Given the description of an element on the screen output the (x, y) to click on. 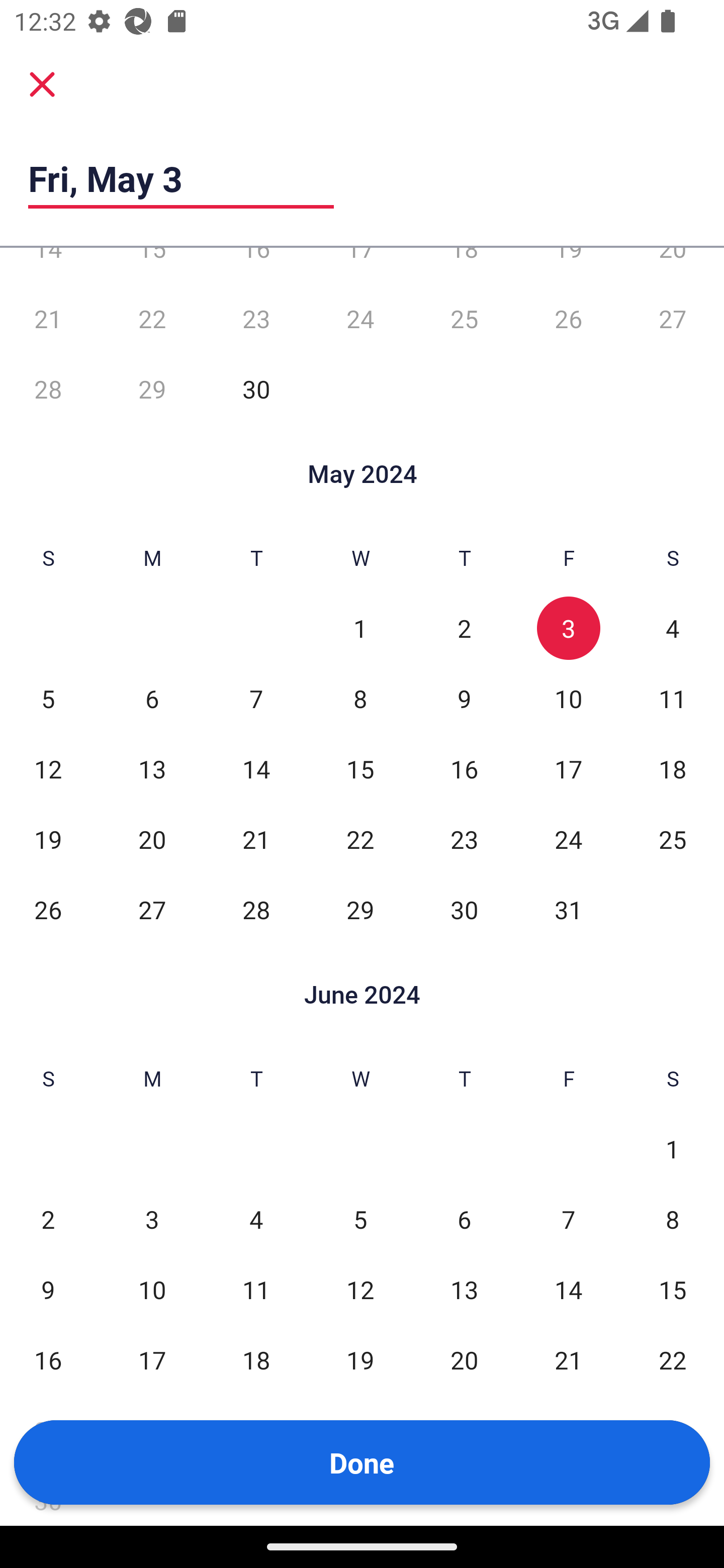
Cancel (42, 84)
Fri, May 3 (180, 178)
21 Sun, Apr 21, Not Selected (48, 318)
22 Mon, Apr 22, Not Selected (152, 318)
23 Tue, Apr 23, Not Selected (256, 318)
24 Wed, Apr 24, Not Selected (360, 318)
25 Thu, Apr 25, Not Selected (464, 318)
26 Fri, Apr 26, Not Selected (568, 318)
27 Sat, Apr 27, Not Selected (672, 318)
28 Sun, Apr 28, Not Selected (48, 389)
29 Mon, Apr 29, Not Selected (152, 389)
30 Tue, Apr 30, Not Selected (256, 389)
1 Wed, May 1, Not Selected (360, 627)
2 Thu, May 2, Not Selected (464, 627)
3 Fri, May 3, Selected (568, 627)
4 Sat, May 4, Not Selected (672, 627)
5 Sun, May 5, Not Selected (48, 698)
6 Mon, May 6, Not Selected (152, 698)
7 Tue, May 7, Not Selected (256, 698)
8 Wed, May 8, Not Selected (360, 698)
9 Thu, May 9, Not Selected (464, 698)
10 Fri, May 10, Not Selected (568, 698)
11 Sat, May 11, Not Selected (672, 698)
12 Sun, May 12, Not Selected (48, 768)
13 Mon, May 13, Not Selected (152, 768)
14 Tue, May 14, Not Selected (256, 768)
15 Wed, May 15, Not Selected (360, 768)
16 Thu, May 16, Not Selected (464, 768)
17 Fri, May 17, Not Selected (568, 768)
18 Sat, May 18, Not Selected (672, 768)
19 Sun, May 19, Not Selected (48, 839)
20 Mon, May 20, Not Selected (152, 839)
21 Tue, May 21, Not Selected (256, 839)
22 Wed, May 22, Not Selected (360, 839)
23 Thu, May 23, Not Selected (464, 839)
24 Fri, May 24, Not Selected (568, 839)
25 Sat, May 25, Not Selected (672, 839)
26 Sun, May 26, Not Selected (48, 909)
27 Mon, May 27, Not Selected (152, 909)
28 Tue, May 28, Not Selected (256, 909)
29 Wed, May 29, Not Selected (360, 909)
30 Thu, May 30, Not Selected (464, 909)
31 Fri, May 31, Not Selected (568, 909)
1 Sat, Jun 1, Not Selected (672, 1148)
2 Sun, Jun 2, Not Selected (48, 1218)
3 Mon, Jun 3, Not Selected (152, 1218)
4 Tue, Jun 4, Not Selected (256, 1218)
5 Wed, Jun 5, Not Selected (360, 1218)
6 Thu, Jun 6, Not Selected (464, 1218)
7 Fri, Jun 7, Not Selected (568, 1218)
8 Sat, Jun 8, Not Selected (672, 1218)
9 Sun, Jun 9, Not Selected (48, 1289)
10 Mon, Jun 10, Not Selected (152, 1289)
11 Tue, Jun 11, Not Selected (256, 1289)
12 Wed, Jun 12, Not Selected (360, 1289)
13 Thu, Jun 13, Not Selected (464, 1289)
14 Fri, Jun 14, Not Selected (568, 1289)
15 Sat, Jun 15, Not Selected (672, 1289)
16 Sun, Jun 16, Not Selected (48, 1359)
17 Mon, Jun 17, Not Selected (152, 1359)
18 Tue, Jun 18, Not Selected (256, 1359)
19 Wed, Jun 19, Not Selected (360, 1359)
20 Thu, Jun 20, Not Selected (464, 1359)
21 Fri, Jun 21, Not Selected (568, 1359)
22 Sat, Jun 22, Not Selected (672, 1359)
Done Button Done (361, 1462)
